Given the description of an element on the screen output the (x, y) to click on. 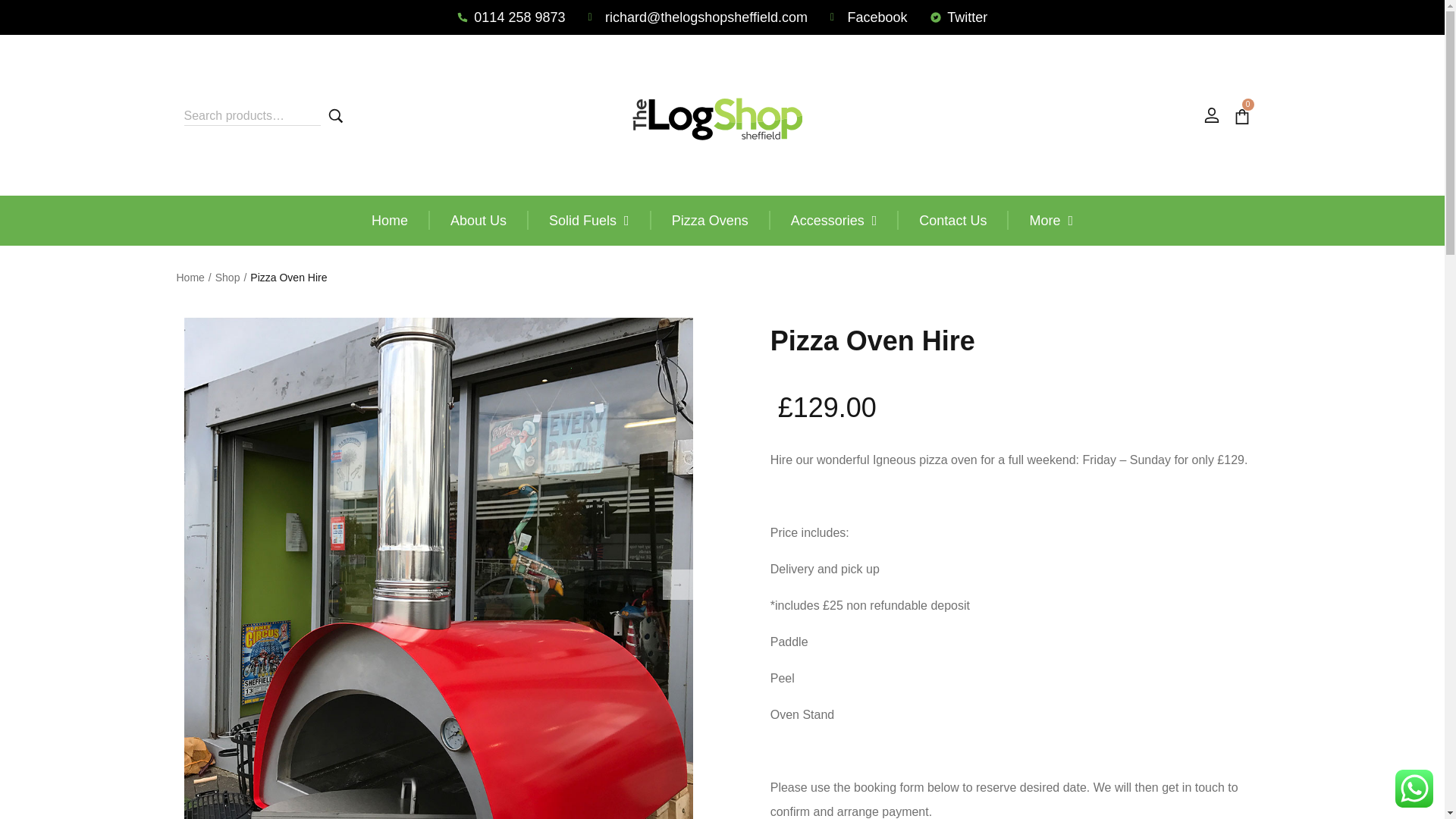
Home (389, 220)
Contact Us (952, 220)
Facebook (868, 16)
Solid Fuels (588, 220)
Accessories (834, 220)
Twitter (959, 16)
Shop (227, 277)
More (1051, 220)
Home (189, 277)
0 (1243, 115)
Pizza Ovens (709, 220)
About Us (478, 220)
